Given the description of an element on the screen output the (x, y) to click on. 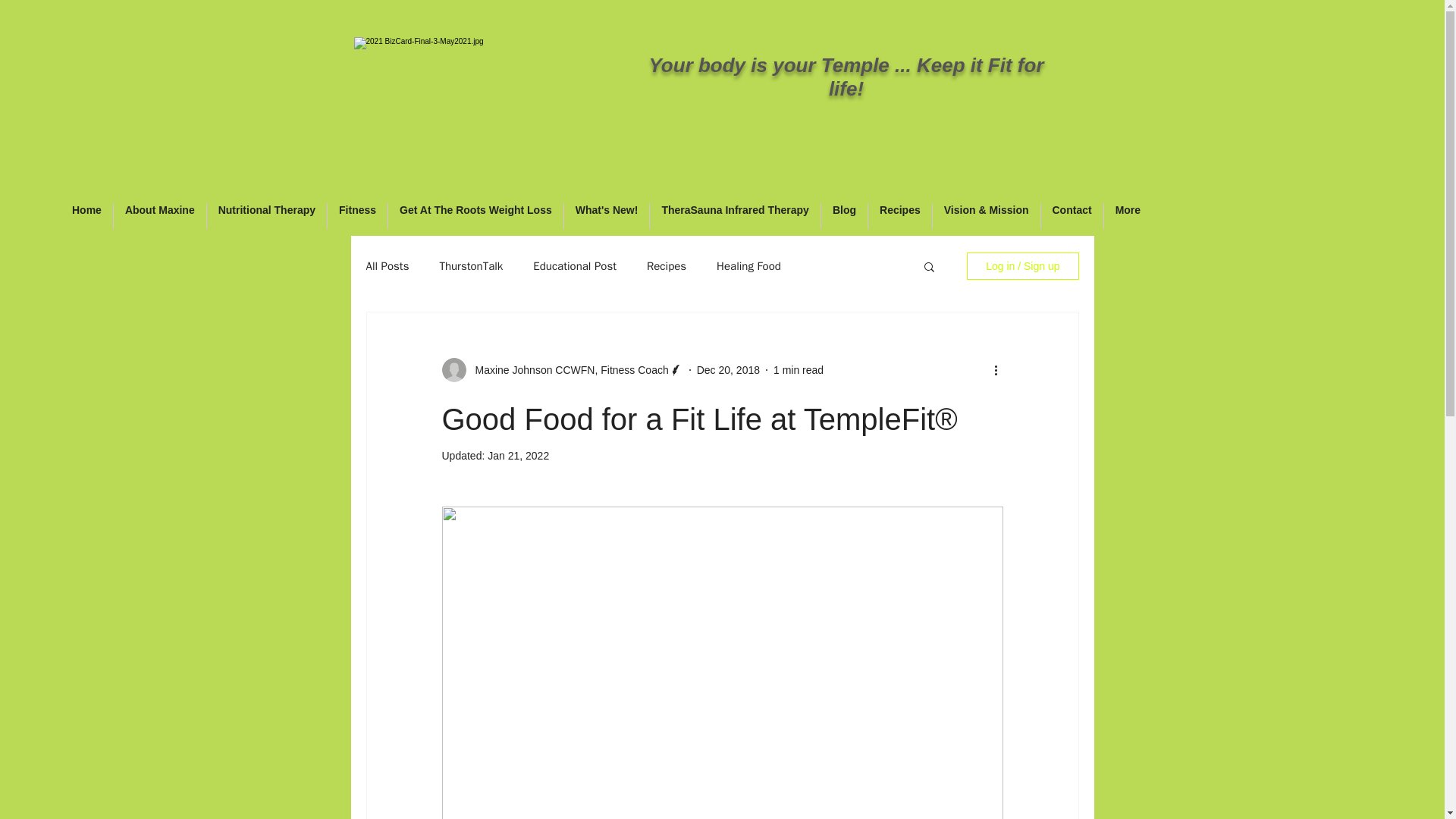
What's New! (606, 216)
ThurstonTalk (470, 266)
Dec 20, 2018 (728, 369)
Healing Food (748, 266)
Blog (844, 216)
Recipes (665, 266)
TheraSauna Infrared Therapy (735, 216)
Educational Post (573, 266)
Jan 21, 2022 (517, 455)
Home (87, 216)
Recipes (899, 216)
All Posts (387, 266)
Contact (1071, 216)
Fitness (357, 216)
Get At The Roots Weight Loss (475, 216)
